Given the description of an element on the screen output the (x, y) to click on. 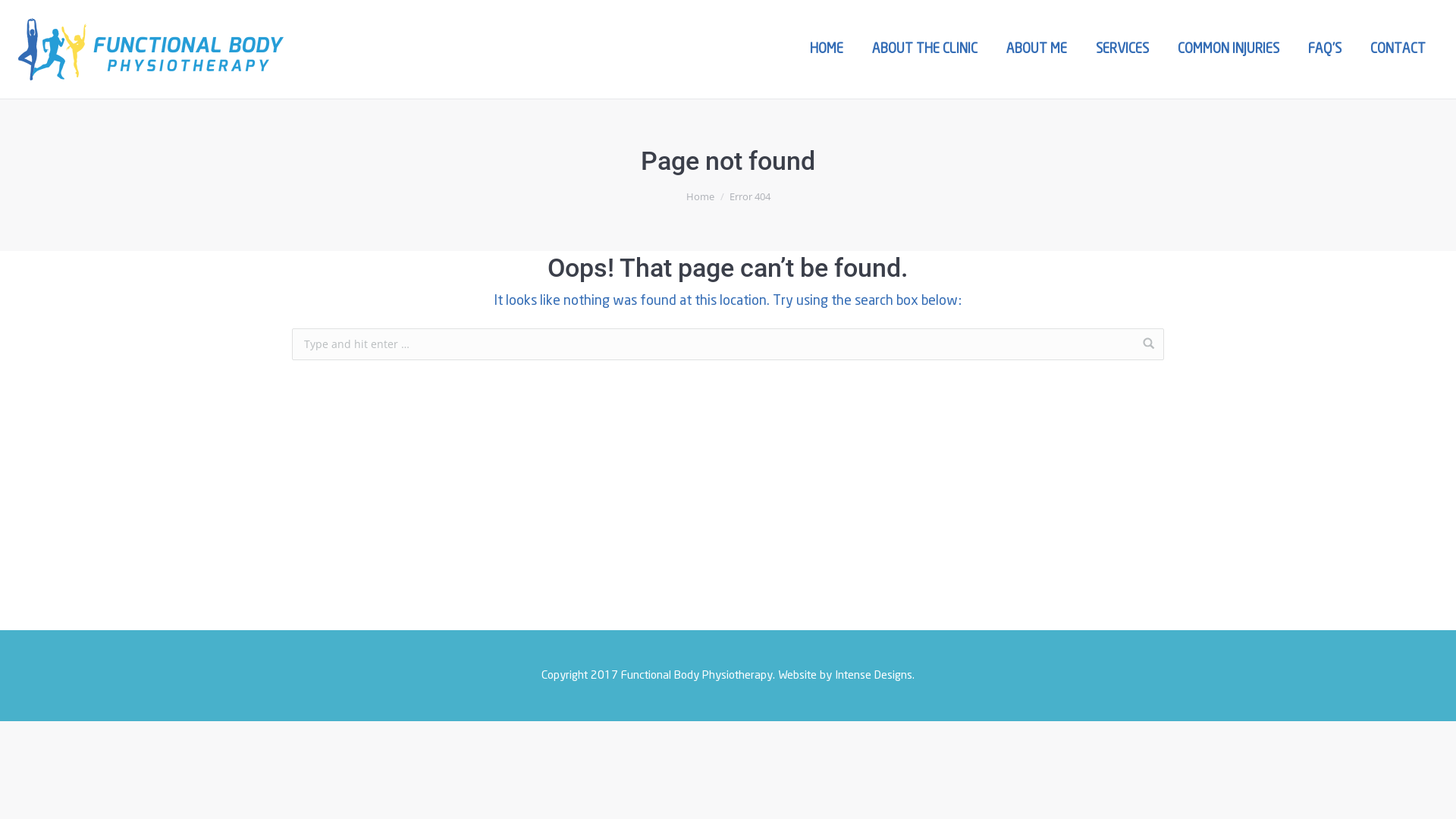
CONTACT Element type: text (1397, 48)
Intense Designs. Element type: text (874, 675)
ABOUT ME Element type: text (1036, 48)
ABOUT THE CLINIC Element type: text (924, 48)
SERVICES Element type: text (1122, 48)
HOME Element type: text (826, 48)
COMMON INJURIES Element type: text (1228, 48)
Home Element type: text (699, 196)
